Given the description of an element on the screen output the (x, y) to click on. 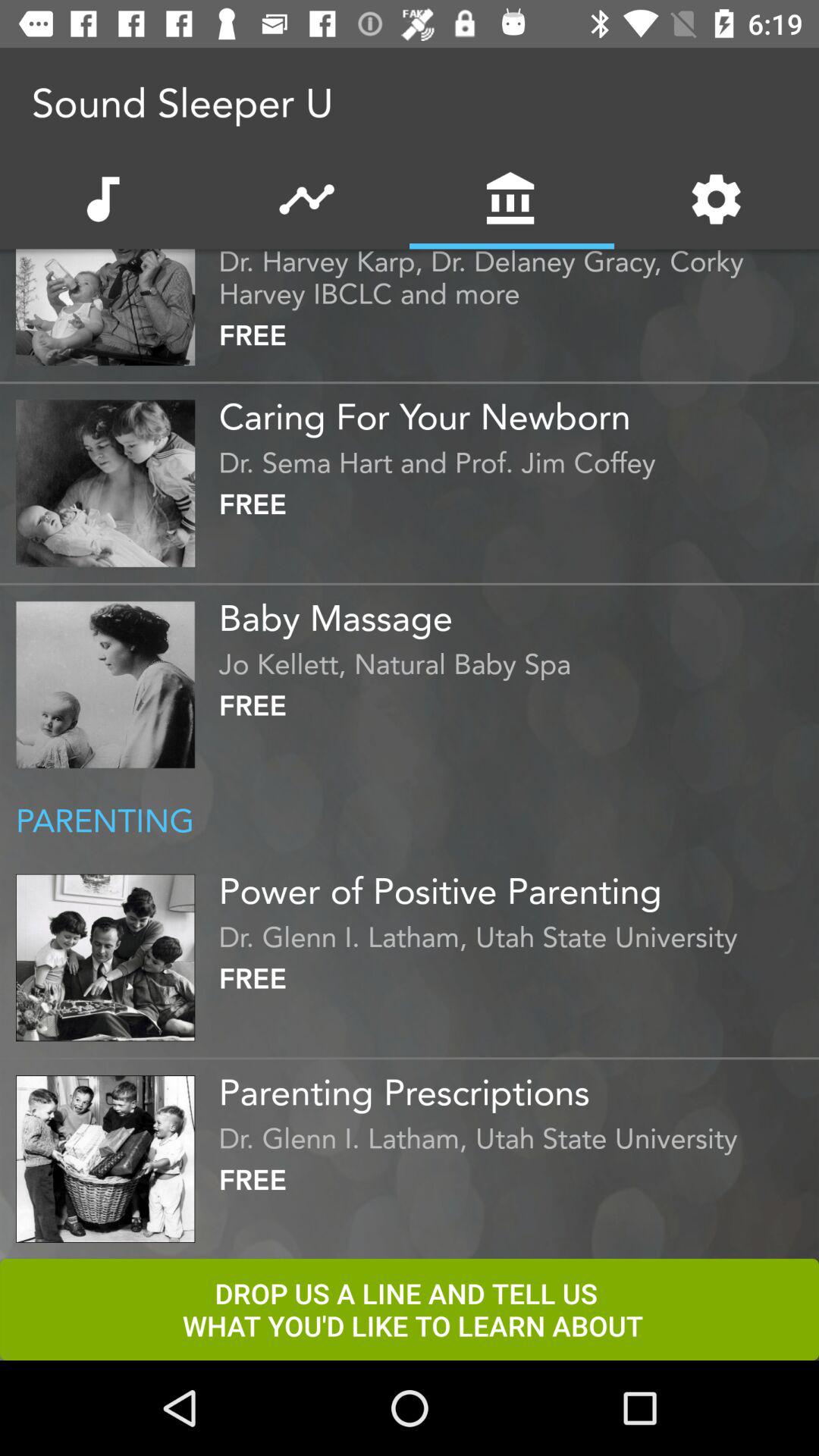
click caring for your item (515, 410)
